Given the description of an element on the screen output the (x, y) to click on. 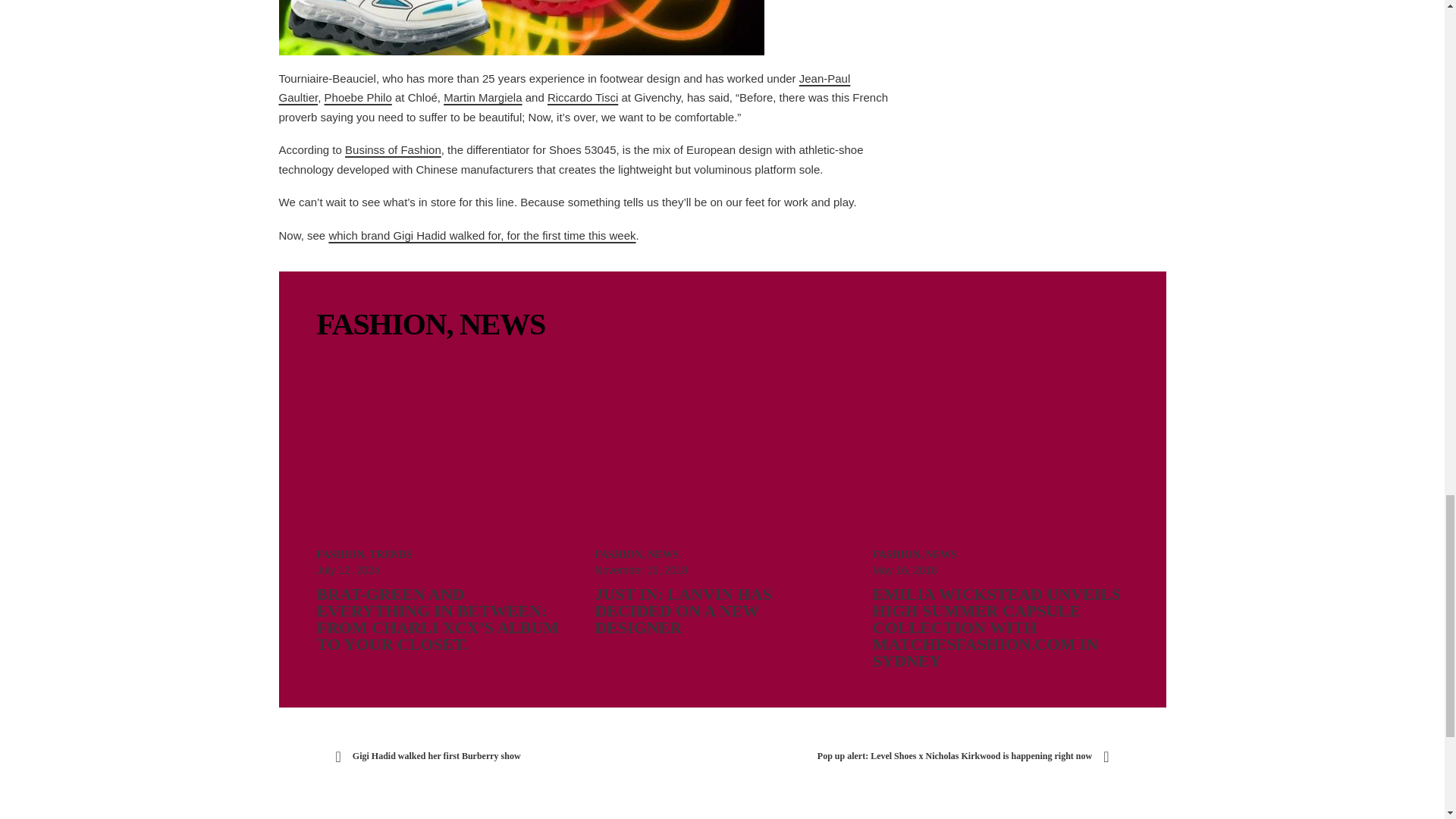
Phoebe Philo (357, 97)
Martin Margiela (482, 97)
Riccardo Tisci (582, 97)
Jean-Paul Gaultier (564, 88)
Businss of Fashion (393, 149)
